Given the description of an element on the screen output the (x, y) to click on. 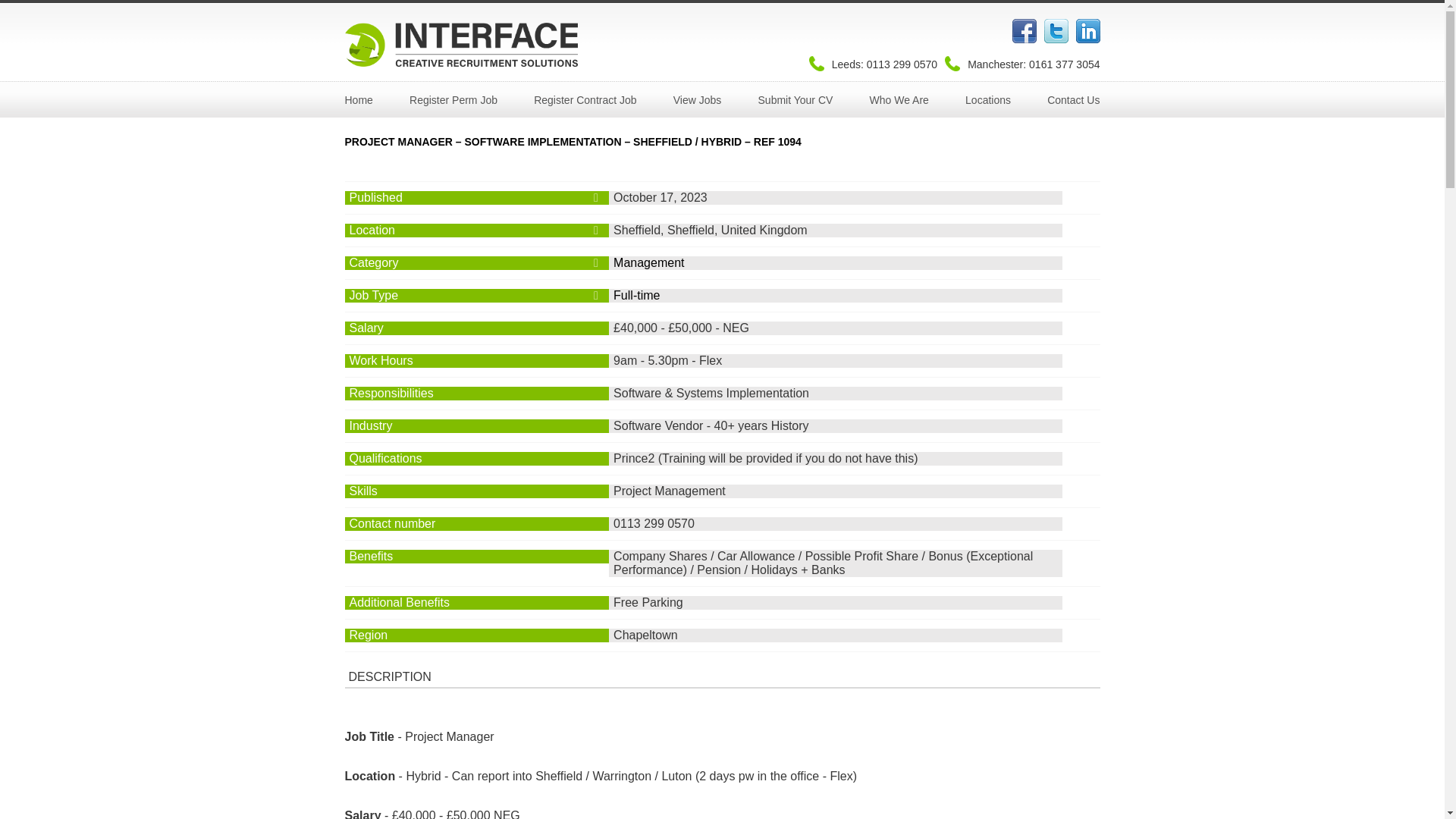
IT Contract jobs (585, 100)
Register Perm Job (453, 100)
Submit Your CV (795, 100)
IT Recruitment Yorkshire (987, 100)
Full-time (635, 295)
IT Recruitment Leeds (357, 100)
IT Jobs (697, 100)
Who We Are (898, 100)
Locations (987, 100)
Management (648, 262)
Home (357, 100)
Contact Us (1072, 100)
Cv  (795, 100)
View Jobs (697, 100)
IT Job Leeds (453, 100)
